Given the description of an element on the screen output the (x, y) to click on. 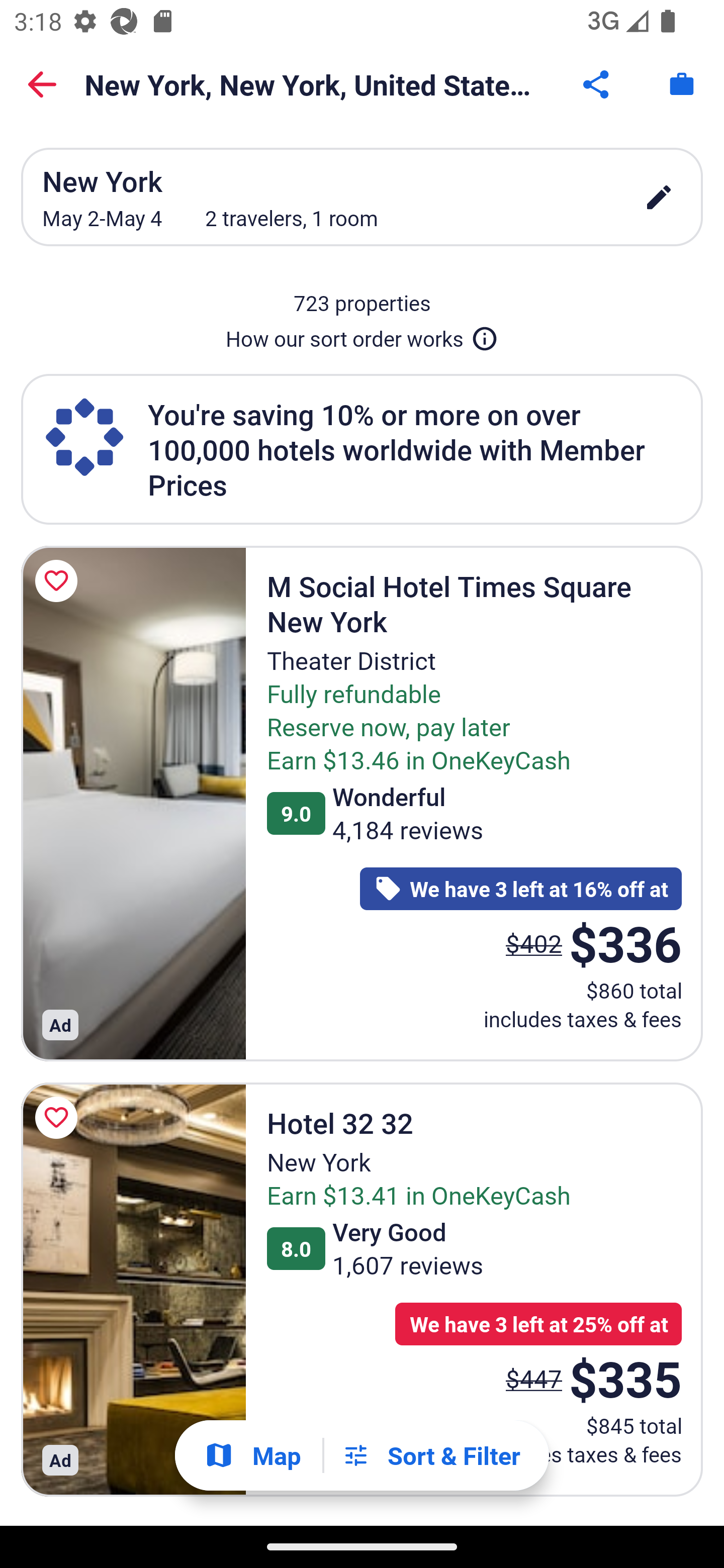
Back (42, 84)
Share Button (597, 84)
Trips. Button (681, 84)
New York May 2-May 4 2 travelers, 1 room edit (361, 196)
How our sort order works (361, 334)
M Social Hotel Times Square New York (133, 803)
$402 The price was $402 (533, 943)
Save Hotel 32 32 to a trip (59, 1117)
Hotel 32 32 (133, 1288)
$447 The price was $447 (533, 1377)
Filters Sort & Filter Filters Button (430, 1455)
Show map Map Show map Button (252, 1455)
